Given the description of an element on the screen output the (x, y) to click on. 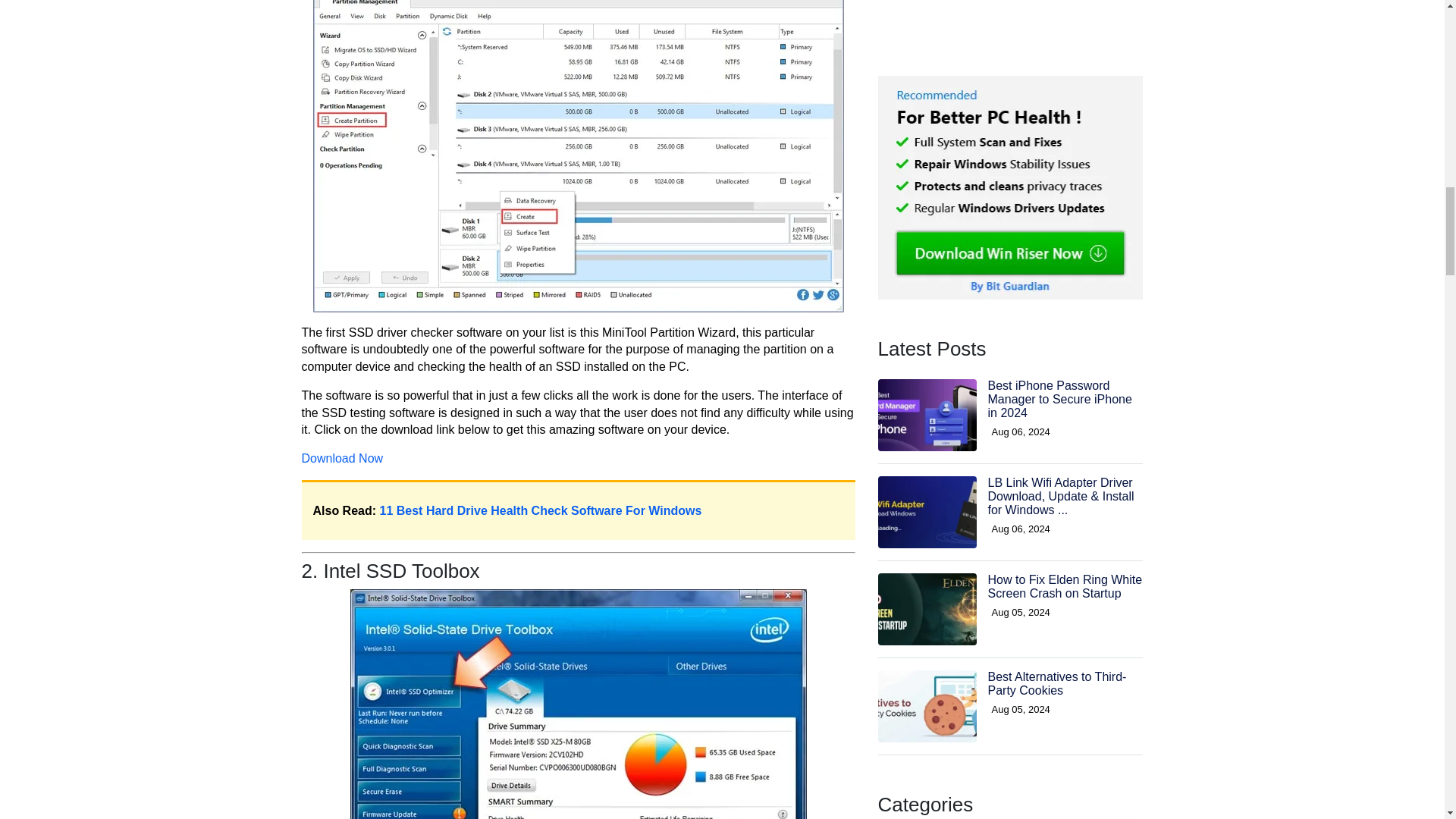
Download Now (342, 458)
11 Best Hard Drive Health Check Software For Windows (540, 510)
Subscribe Now (1010, 493)
